Given the description of an element on the screen output the (x, y) to click on. 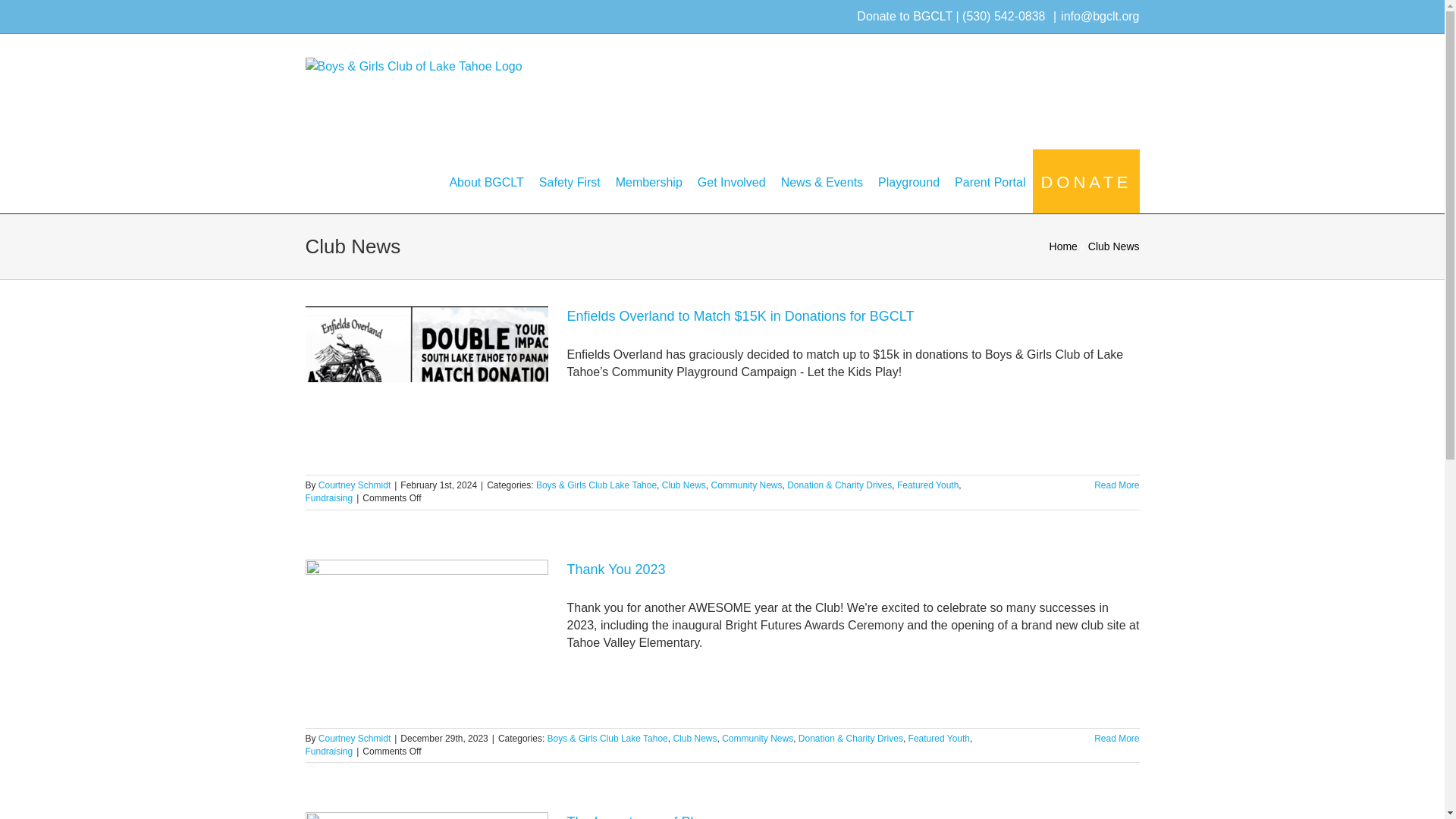
Get Involved (731, 180)
About BGCLT (485, 180)
Community News (745, 484)
Posts by Courtney Schmidt (354, 484)
Playground (908, 180)
Membership (648, 180)
Featured Youth (927, 484)
Fundraising (328, 498)
Posts by Courtney Schmidt (354, 738)
DONATE (1086, 180)
Safety First (568, 180)
Parent Portal (990, 180)
Courtney Schmidt (354, 484)
Home (1063, 246)
Donate to BGCLT (904, 15)
